Given the description of an element on the screen output the (x, y) to click on. 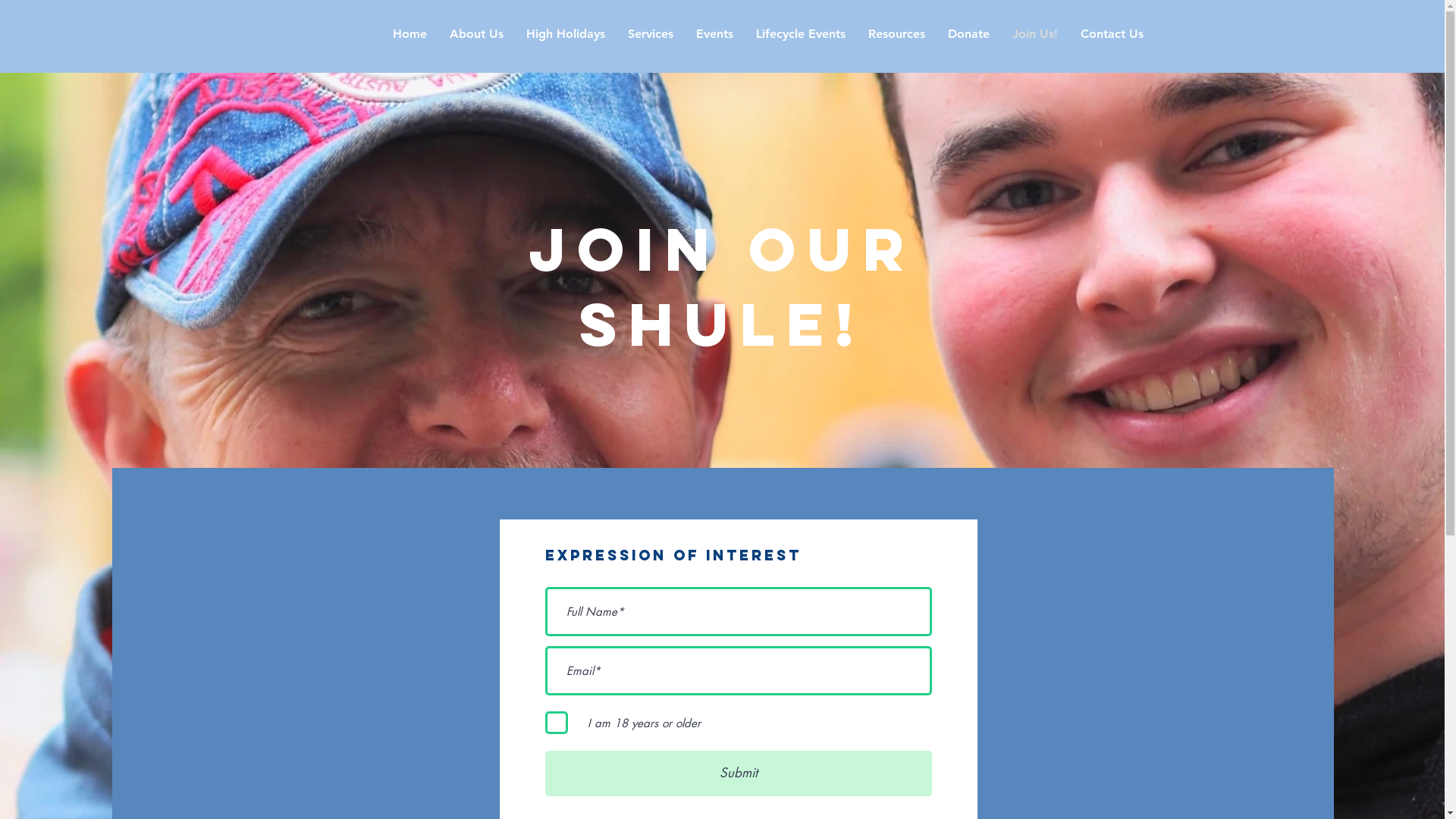
Home Element type: text (408, 34)
Lifecycle Events Element type: text (800, 34)
About Us Element type: text (476, 34)
Donate Element type: text (967, 34)
Join Us! Element type: text (1035, 34)
Contact Us Element type: text (1111, 34)
Submit Element type: text (737, 773)
